Given the description of an element on the screen output the (x, y) to click on. 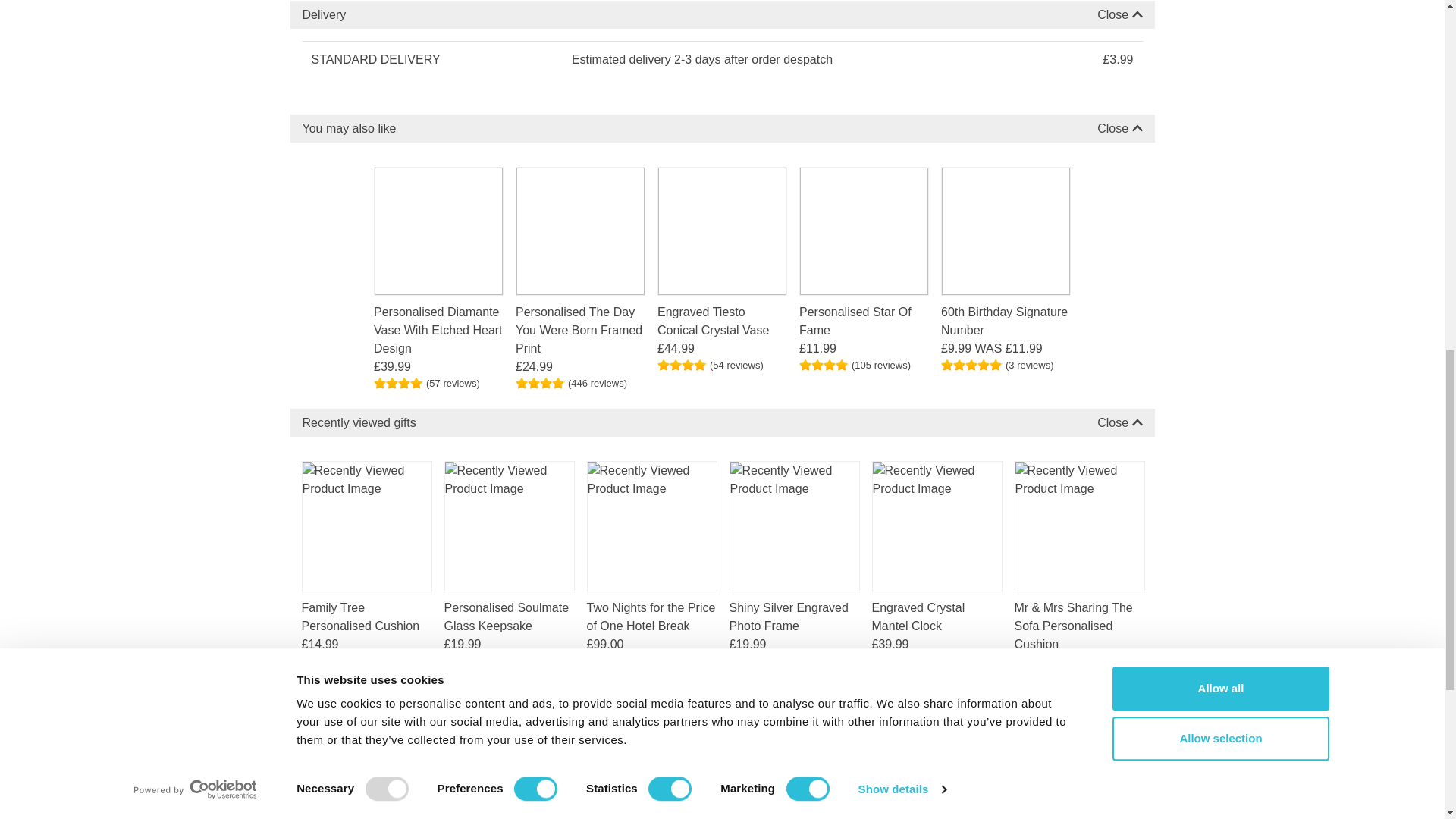
Sign up (1121, 739)
